Given the description of an element on the screen output the (x, y) to click on. 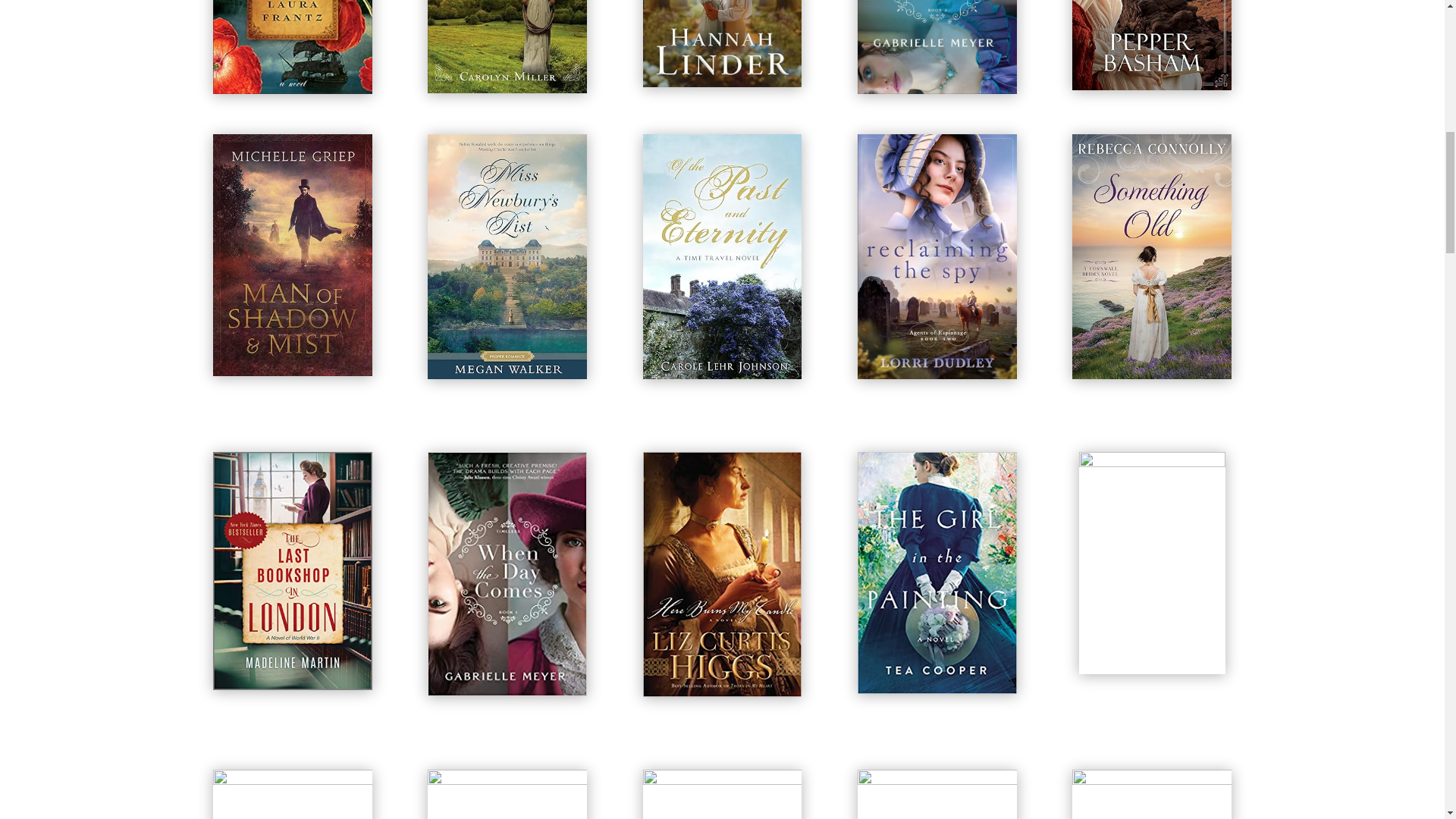
gardens of the midnights (722, 43)
Dawns untrodden green (507, 46)
In this moment (936, 47)
Juliet's Code (1151, 45)
